Given the description of an element on the screen output the (x, y) to click on. 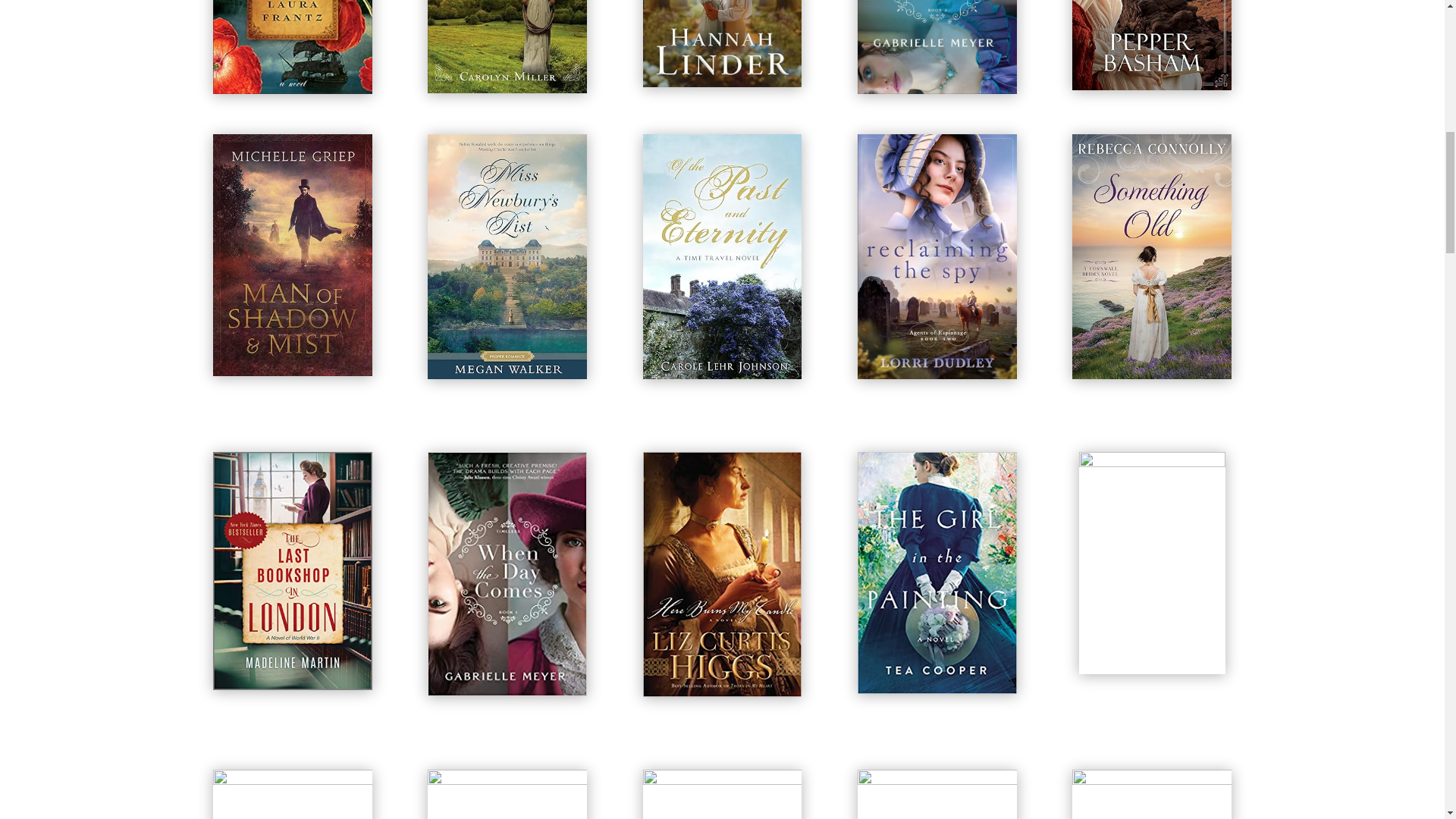
gardens of the midnights (722, 43)
Dawns untrodden green (507, 46)
In this moment (936, 47)
Juliet's Code (1151, 45)
